Given the description of an element on the screen output the (x, y) to click on. 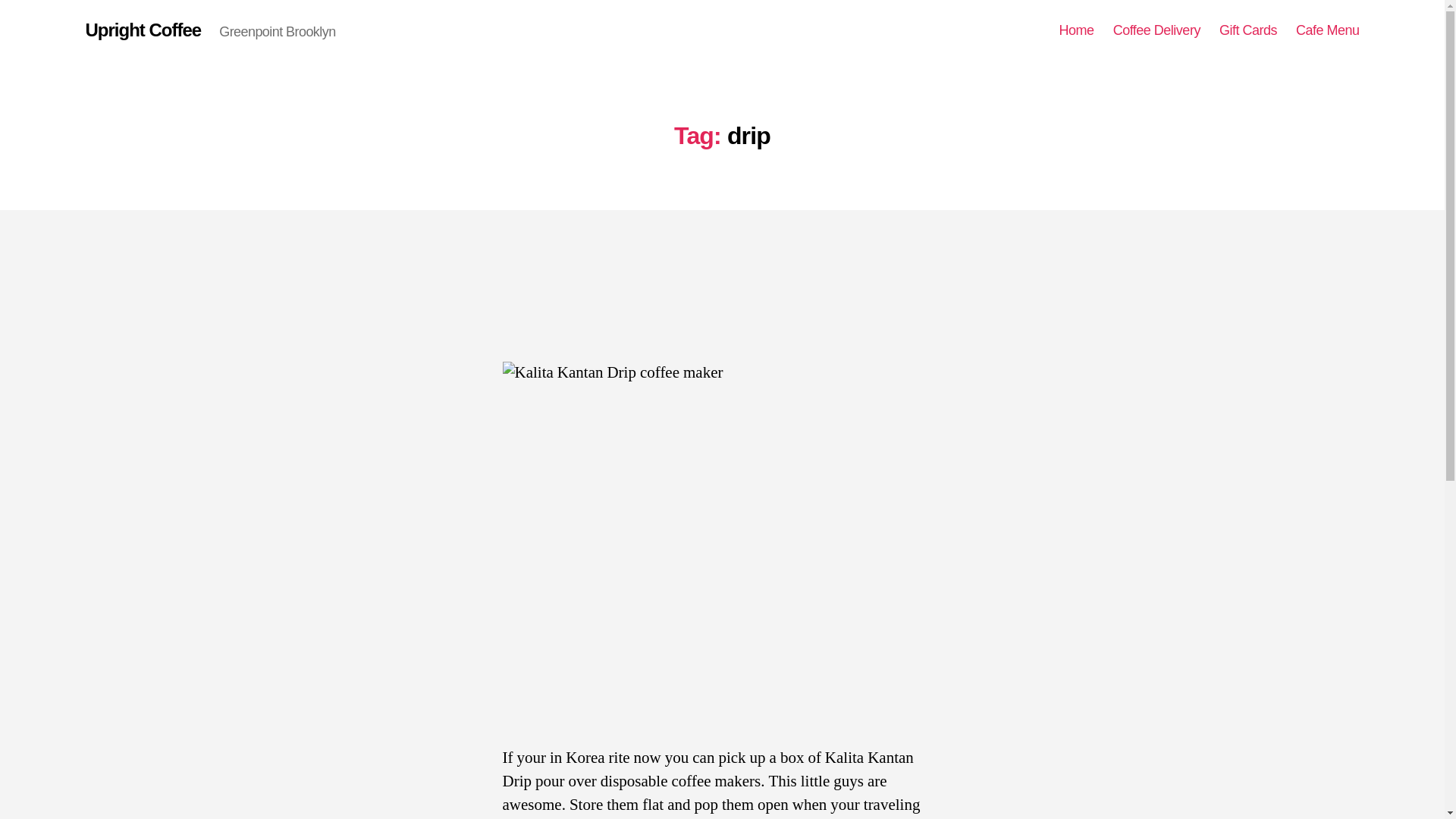
Cafe Menu (1327, 30)
Home (1076, 30)
Coffee Delivery (1156, 30)
Upright Coffee (142, 30)
Gift Cards (1248, 30)
